Given the description of an element on the screen output the (x, y) to click on. 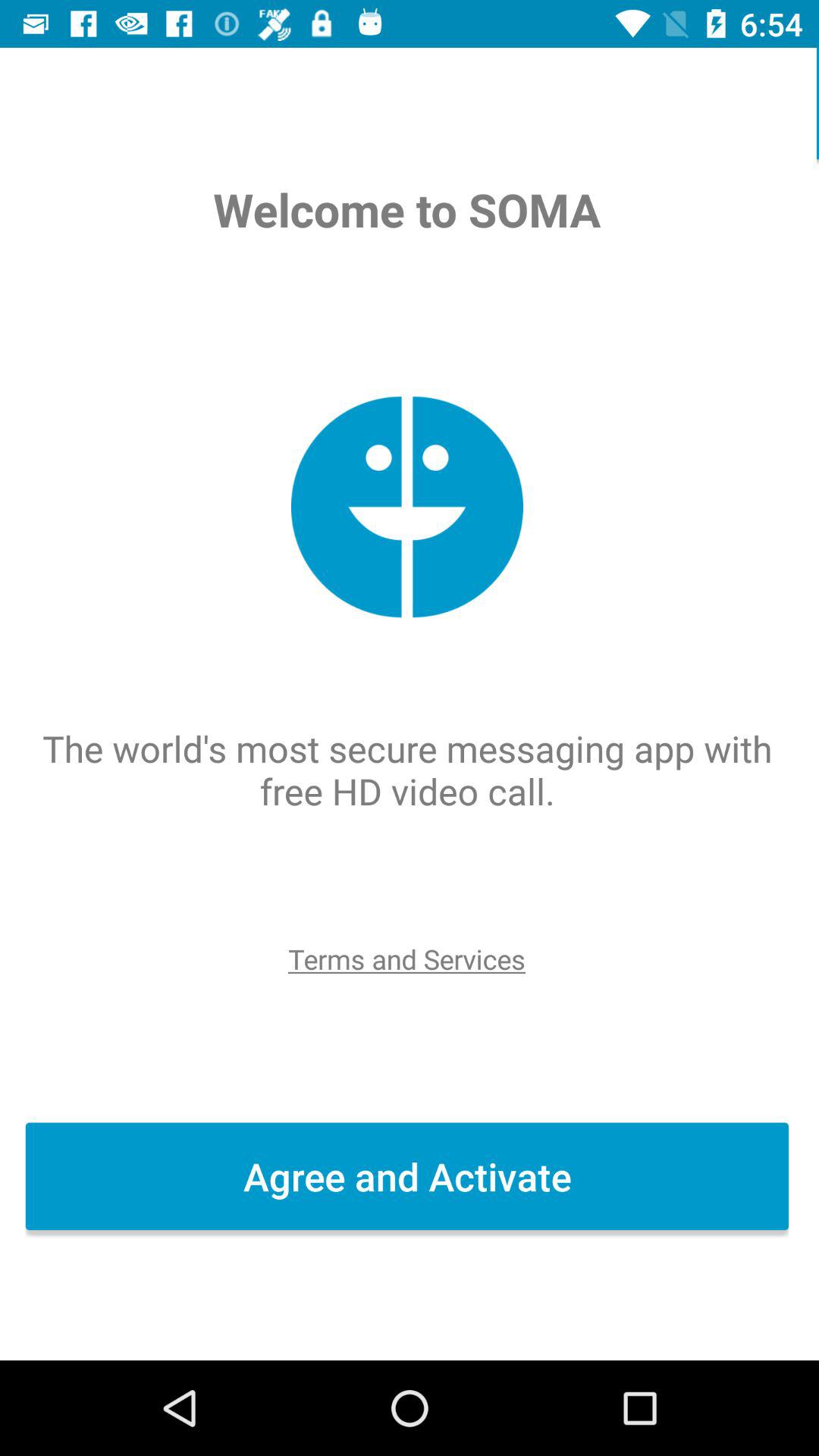
click item above the agree and activate icon (408, 959)
